Given the description of an element on the screen output the (x, y) to click on. 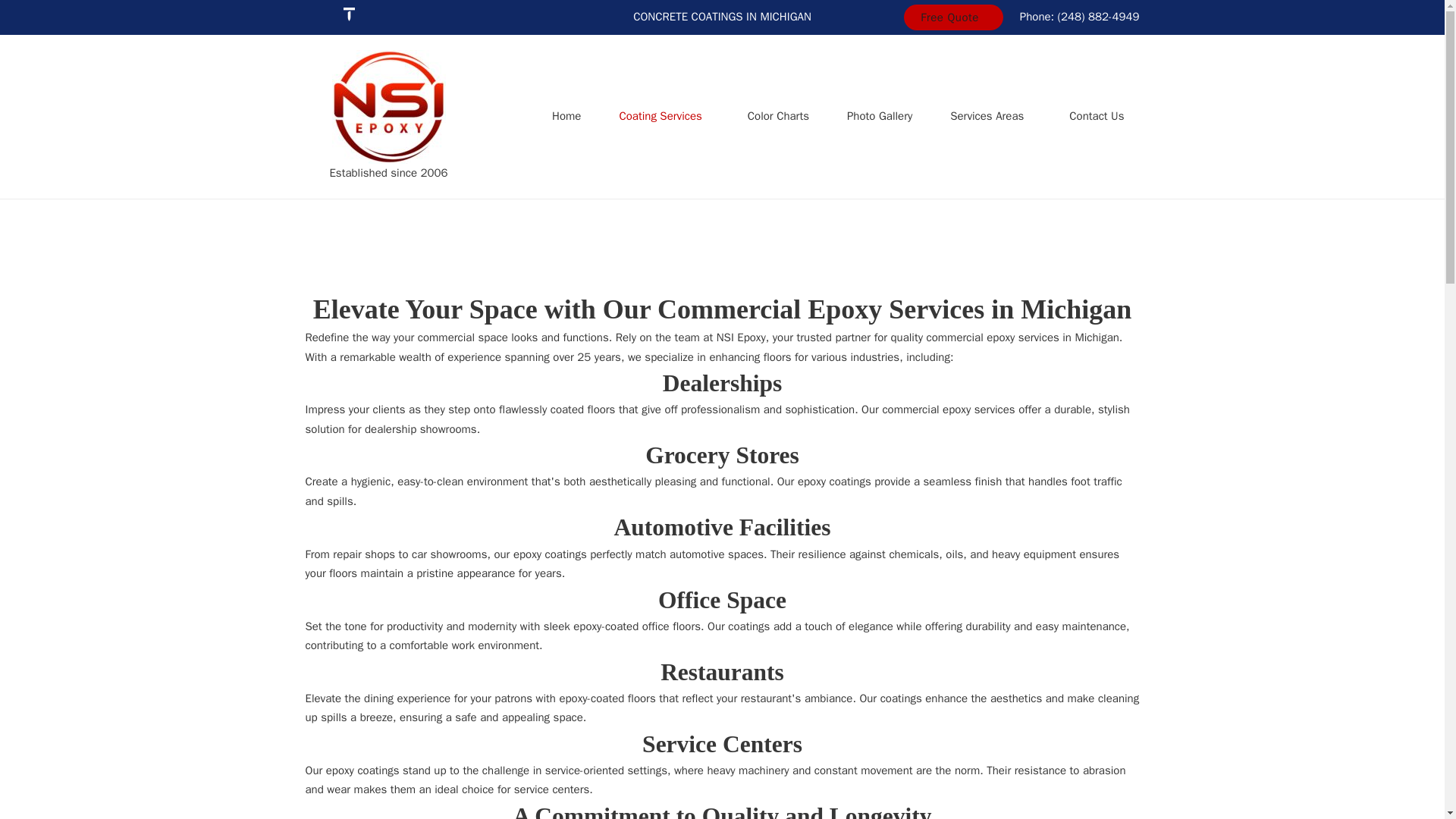
Color Charts (778, 116)
Photo Gallery (879, 116)
Free Quote (953, 17)
Contact Us (1096, 116)
Coating Services (659, 116)
Home (565, 116)
Services Areas (986, 116)
